Given the description of an element on the screen output the (x, y) to click on. 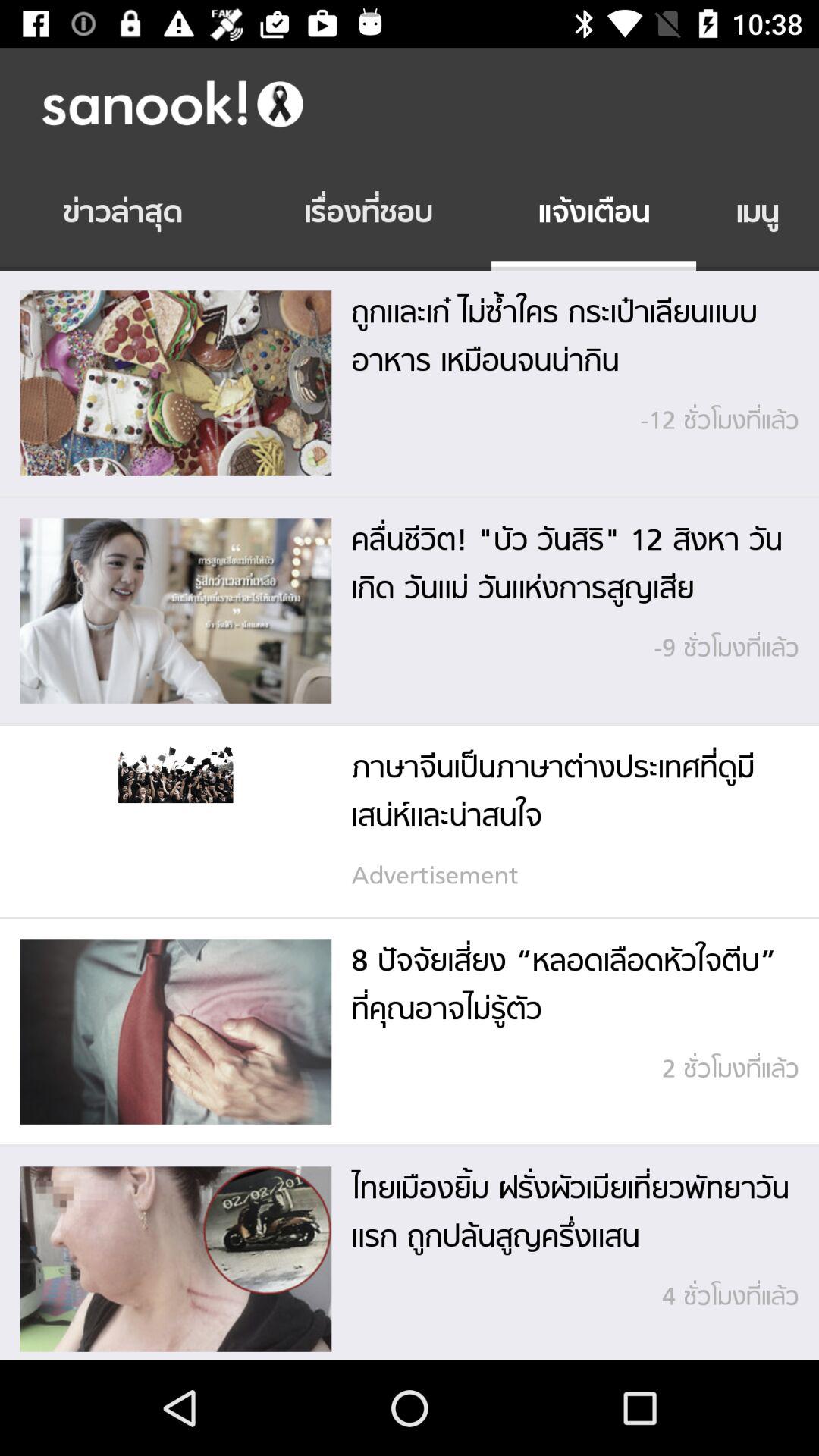
choose the item above advertisement icon (565, 793)
